Given the description of an element on the screen output the (x, y) to click on. 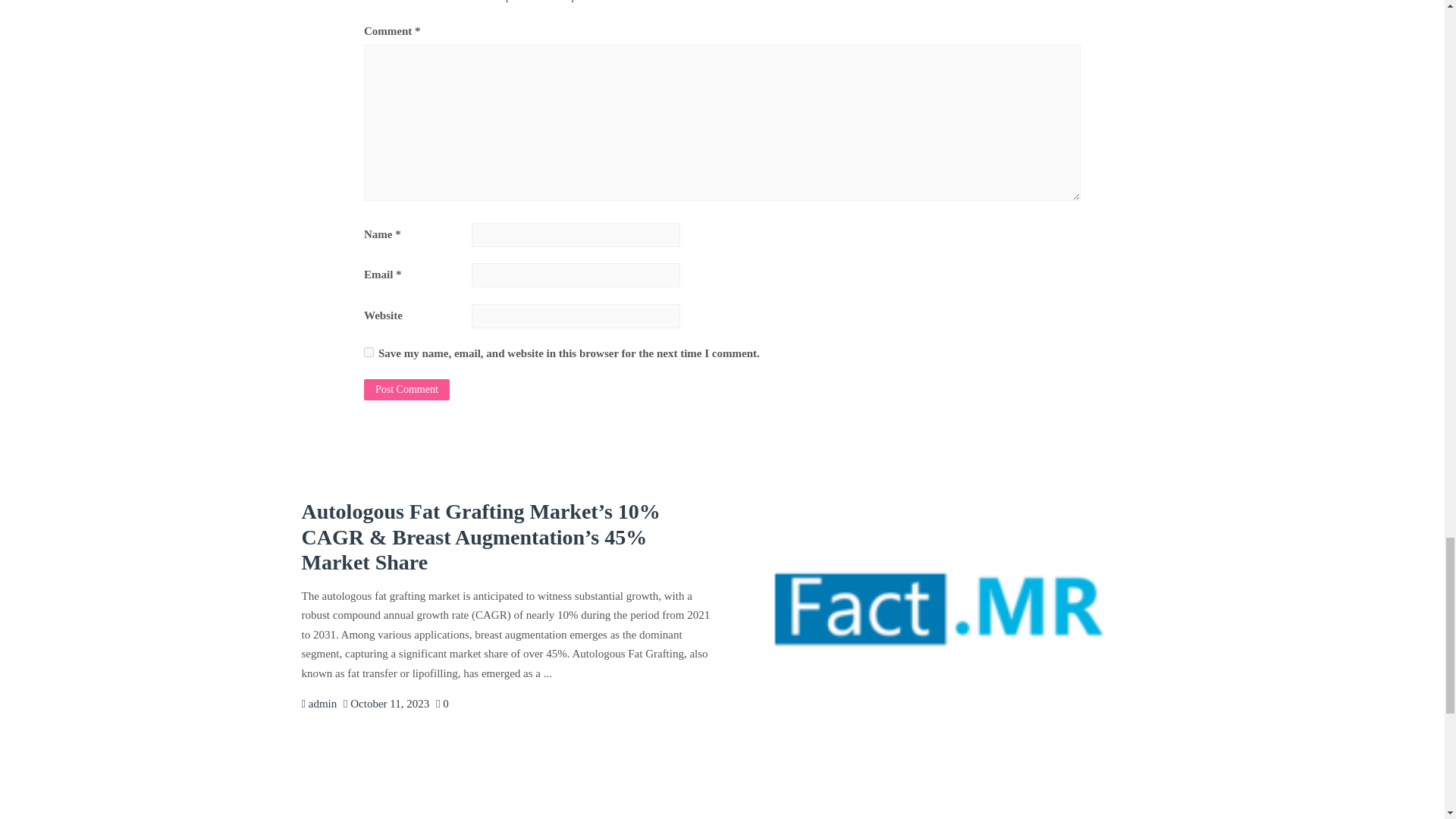
admin (319, 703)
admin (319, 703)
Post Comment (406, 389)
Post Comment (406, 389)
0 (441, 703)
October 11, 2023 (386, 703)
yes (369, 352)
